Given the description of an element on the screen output the (x, y) to click on. 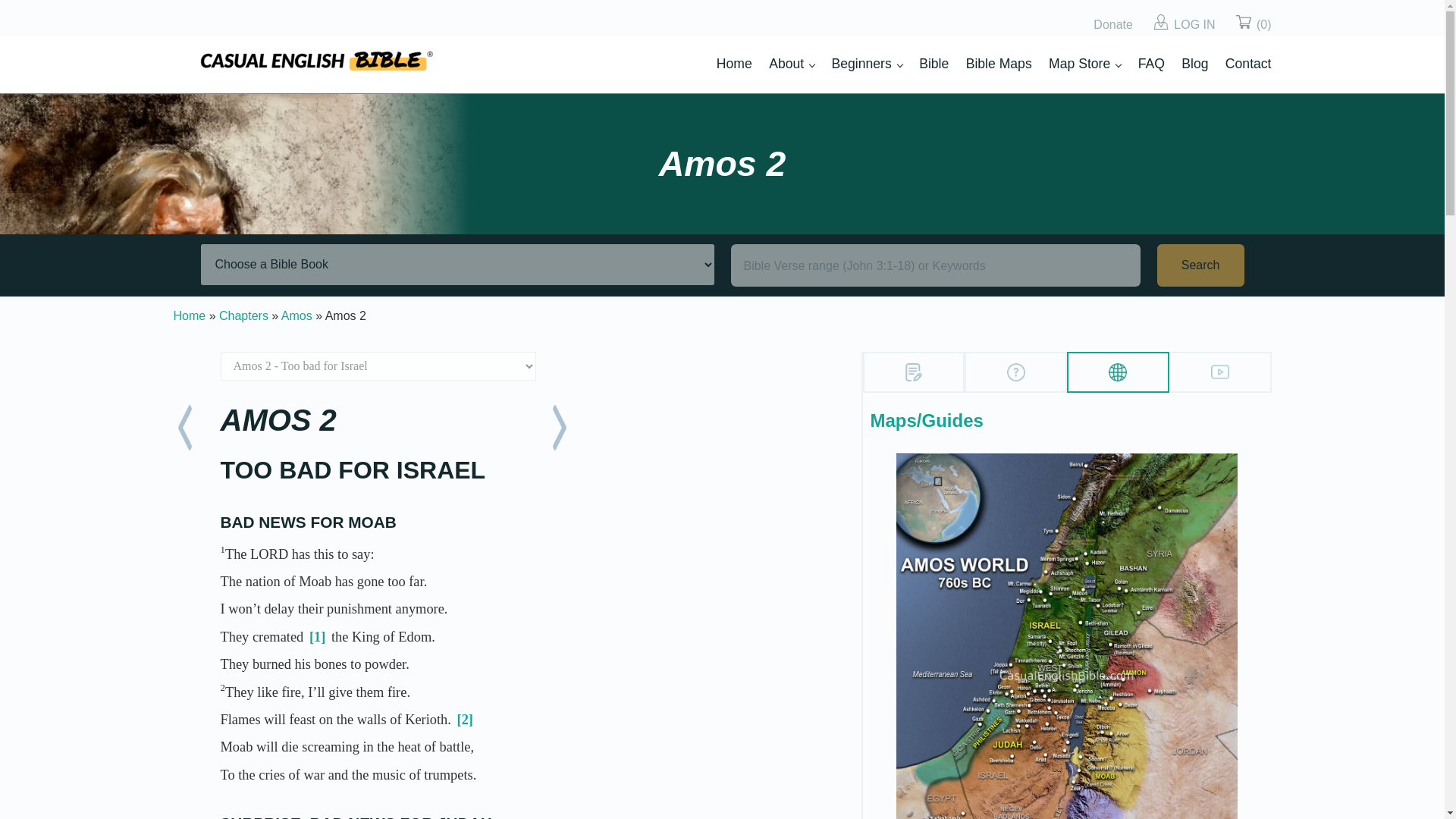
Home (734, 64)
Map Store (1084, 64)
Bible Maps (999, 64)
FAQ (1151, 64)
Beginners (866, 64)
About (790, 64)
Donate (1112, 25)
Videos (1219, 371)
Blog (1194, 64)
LOG IN (1193, 25)
Bible (933, 64)
Footnotes (913, 371)
Contact (1248, 64)
Discussion Questions (1015, 371)
